Given the description of an element on the screen output the (x, y) to click on. 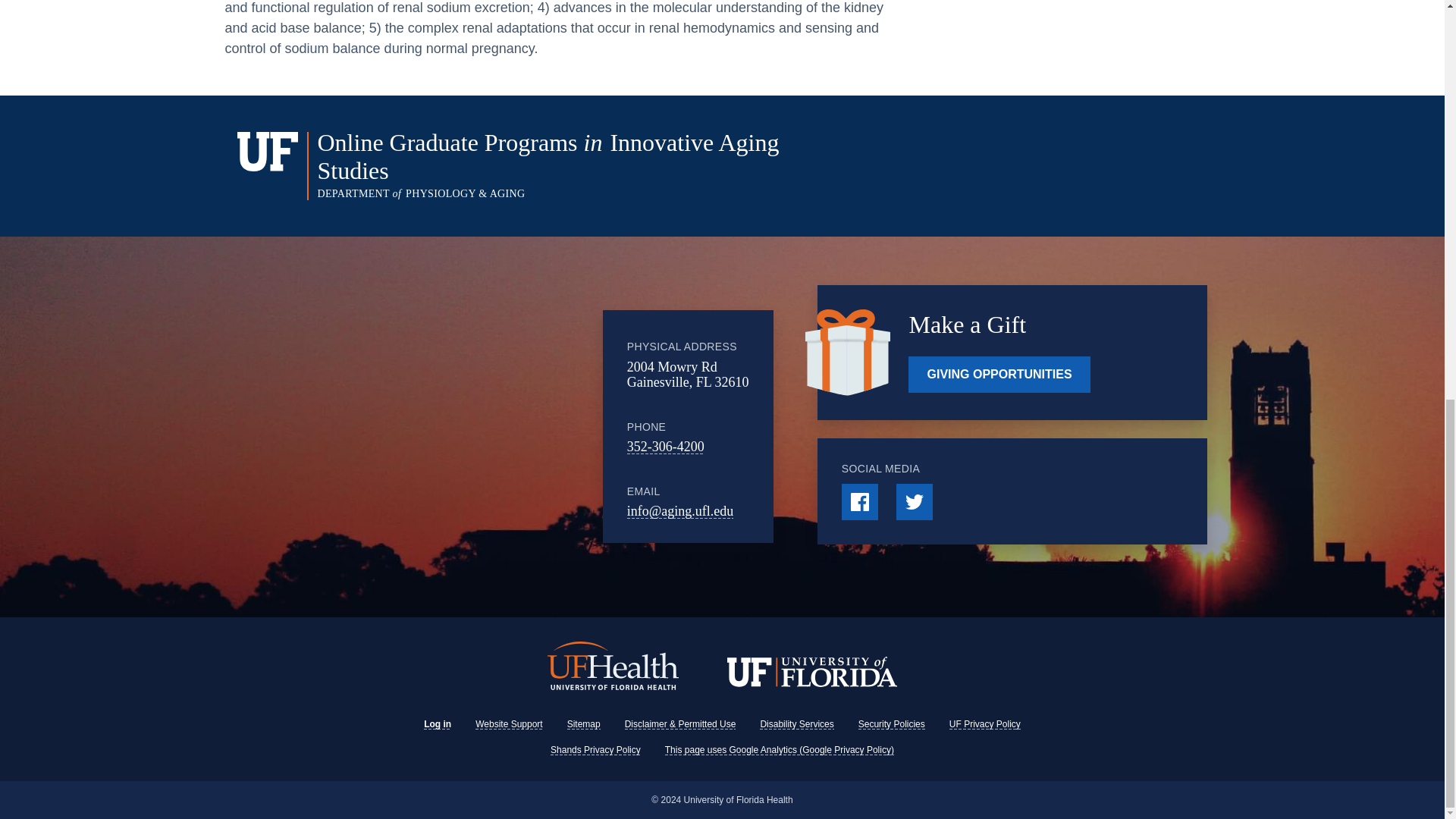
Security Policies (891, 724)
UF Privacy Policy (984, 724)
352-306-4200 (665, 446)
Sitemap (583, 724)
Disability Services (796, 724)
Log in (437, 724)
Google Maps Embed (478, 426)
Shands Privacy Policy (595, 749)
Website Support (509, 724)
